Given the description of an element on the screen output the (x, y) to click on. 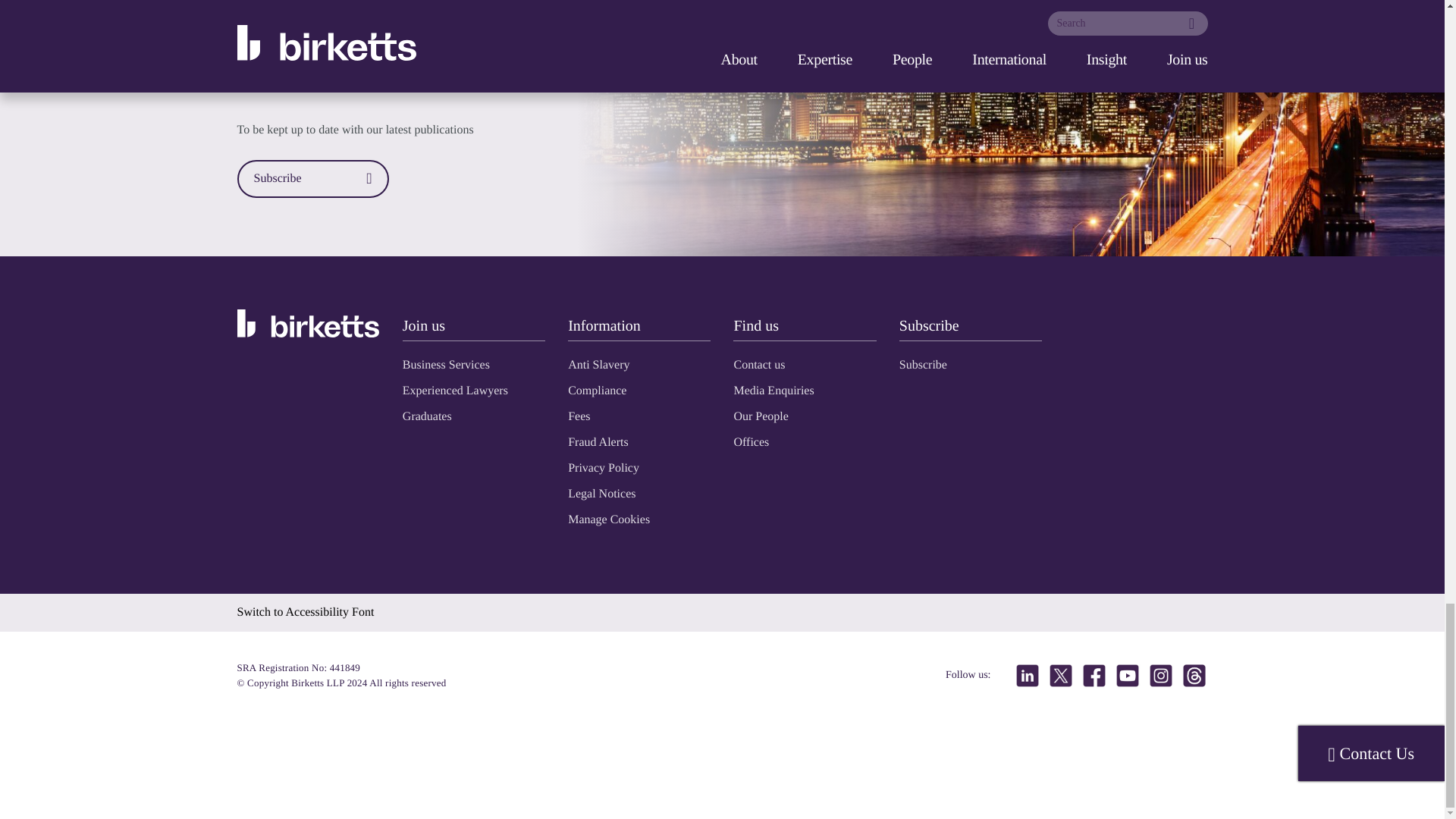
Experienced Lawyers (455, 390)
Manage Cookies (608, 519)
Contact us (758, 364)
Anti Slavery  (597, 364)
Media Enquiries (773, 390)
Privacy Policy (603, 468)
Fees (578, 416)
Our People (760, 416)
Subscribe (923, 364)
Compliance (596, 390)
Business Services (446, 364)
Legal Notices (600, 493)
Fraud Alerts (597, 441)
Switch to Dyslexic friendly appearance (304, 612)
Graduates (427, 416)
